Given the description of an element on the screen output the (x, y) to click on. 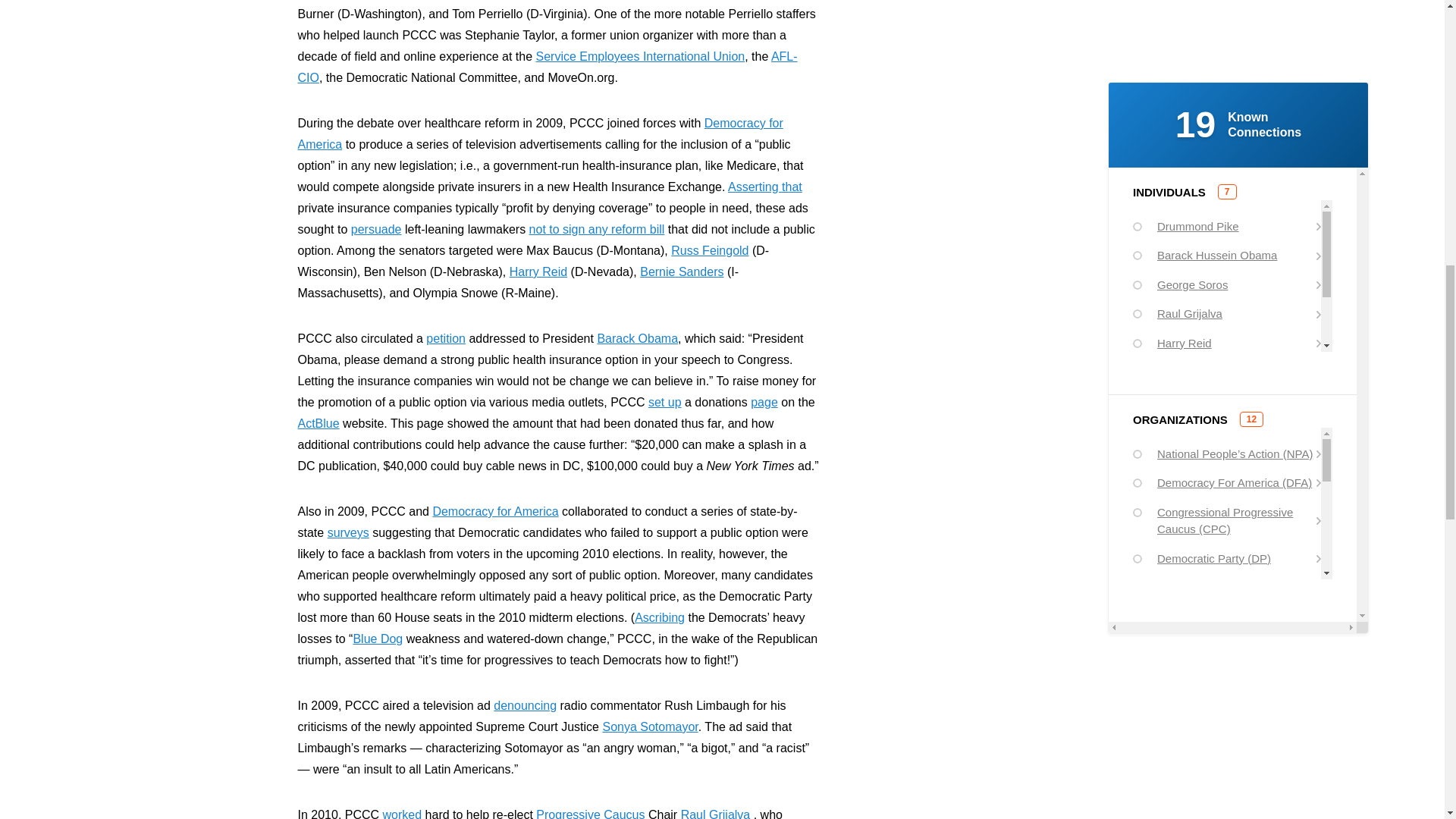
Service Employees International Union (640, 56)
ActBlue (318, 422)
petition (445, 338)
denouncing (524, 705)
AFL-CIO (546, 66)
Bernie Sanders (681, 271)
page (764, 401)
Blue Dog (377, 638)
set up (664, 401)
Asserting that (765, 186)
persuade (375, 228)
Barack Obama (637, 338)
Ascribing (659, 617)
Russ Feingold (709, 250)
Harry Reid (538, 271)
